Given the description of an element on the screen output the (x, y) to click on. 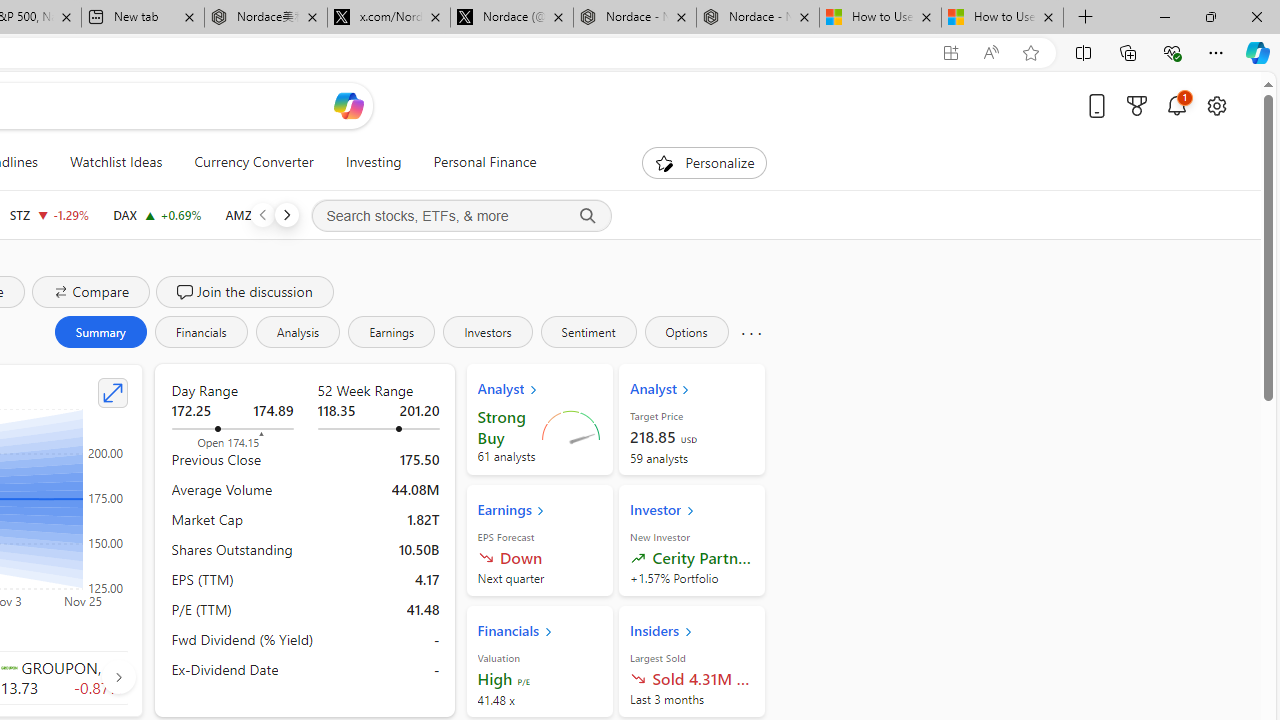
Investing (373, 162)
Financials (200, 331)
App available. Install Start Money (950, 53)
Personal Finance (484, 162)
Open Copilot (347, 105)
Personalize (703, 162)
Currency Converter (253, 162)
Open Copilot (347, 105)
Currency Converter (253, 162)
Nordace (@NordaceOfficial) / X (511, 17)
